Given the description of an element on the screen output the (x, y) to click on. 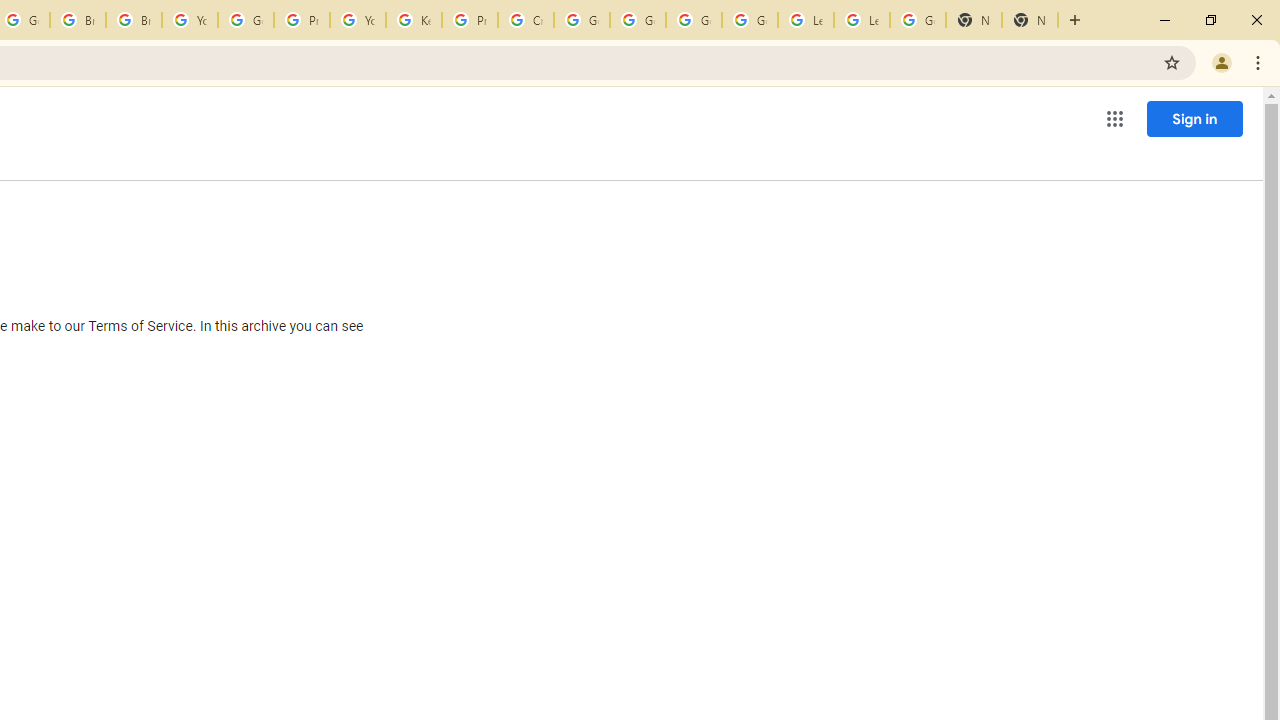
Create your Google Account (525, 20)
Google Account (917, 20)
YouTube (358, 20)
Brand Resource Center (77, 20)
